Given the description of an element on the screen output the (x, y) to click on. 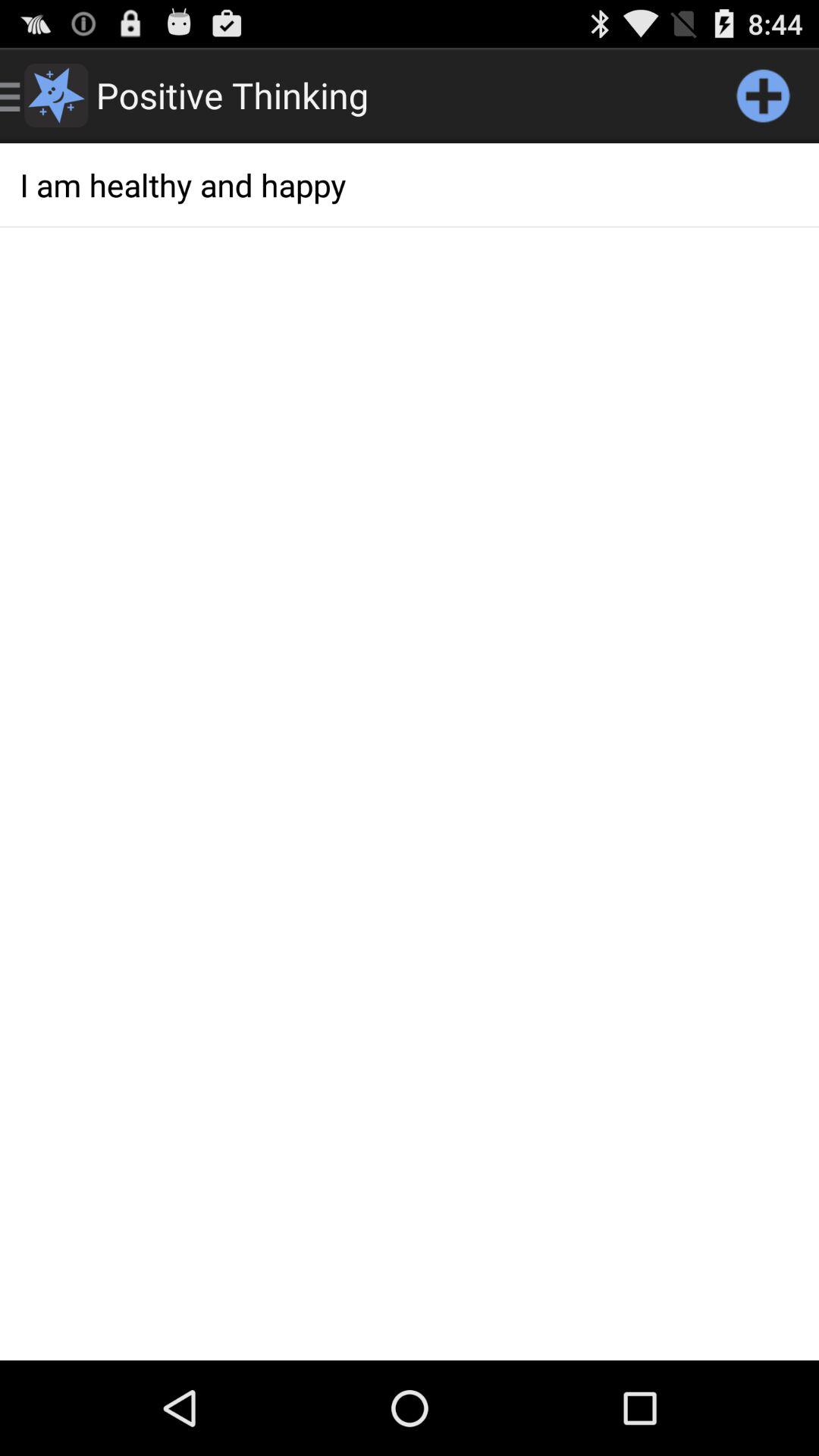
choose icon at the top right corner (763, 95)
